Given the description of an element on the screen output the (x, y) to click on. 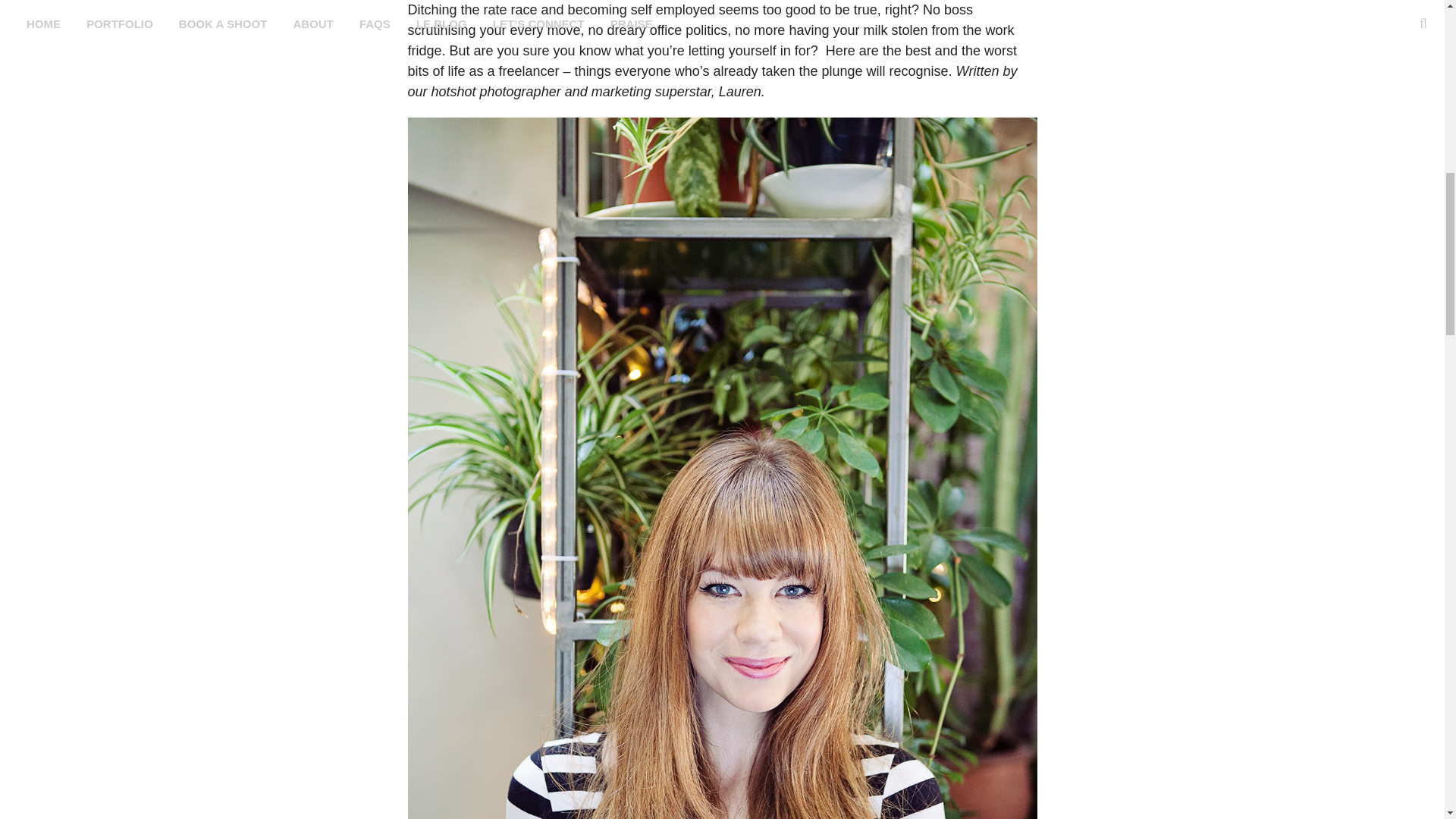
PORTFOLIO (119, 23)
ABOUT (312, 23)
HOME (42, 23)
FAQS (374, 23)
Home (42, 23)
PRAISE (630, 23)
LE BLOG (441, 23)
Blog (441, 23)
BOOK A SHOOT (222, 23)
